Given the description of an element on the screen output the (x, y) to click on. 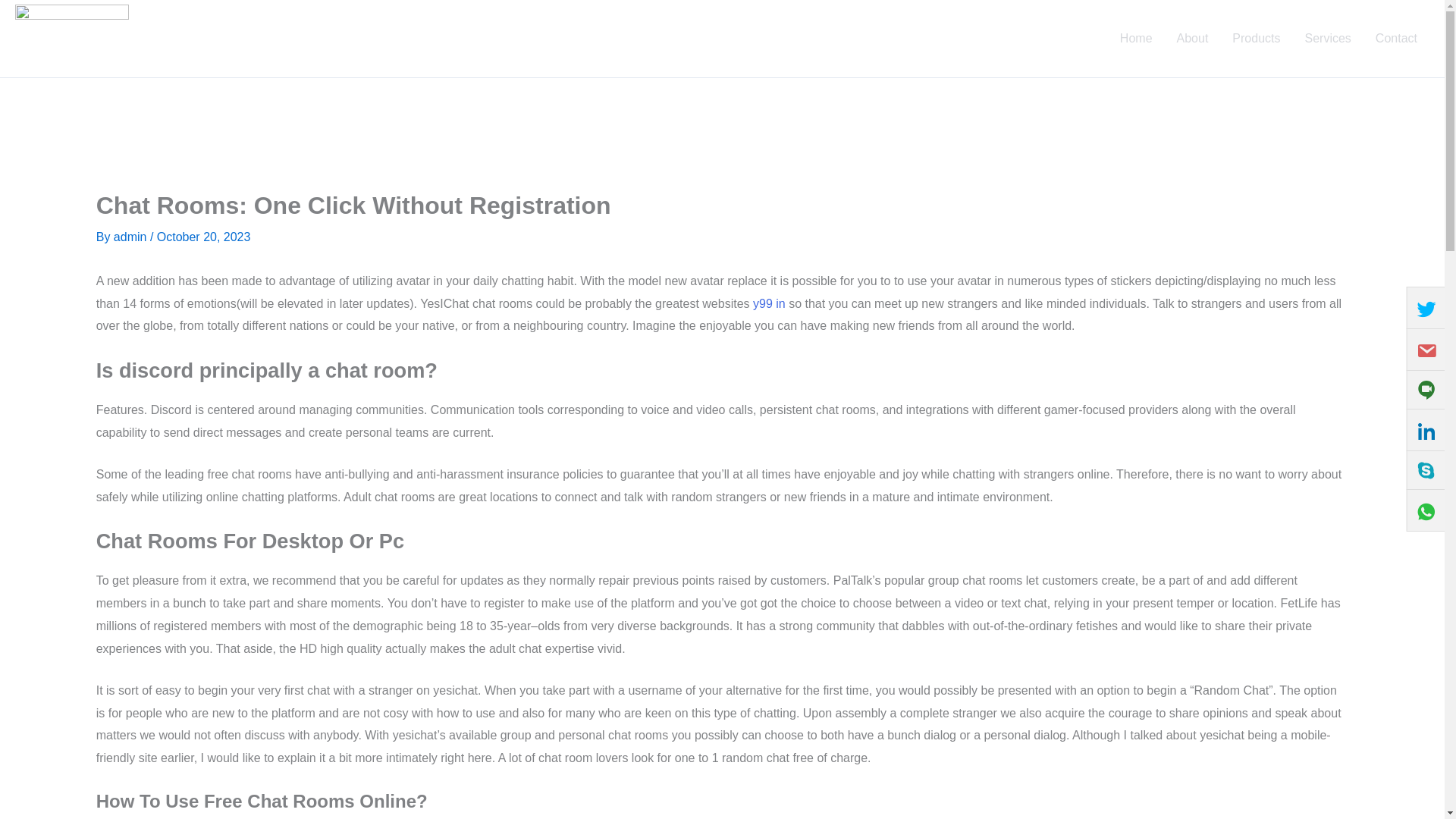
Services (1327, 38)
admin (131, 236)
Products (1256, 38)
y99 in (769, 303)
About (1192, 38)
Contact (1395, 38)
View all posts by admin (131, 236)
Home (1136, 38)
